Given the description of an element on the screen output the (x, y) to click on. 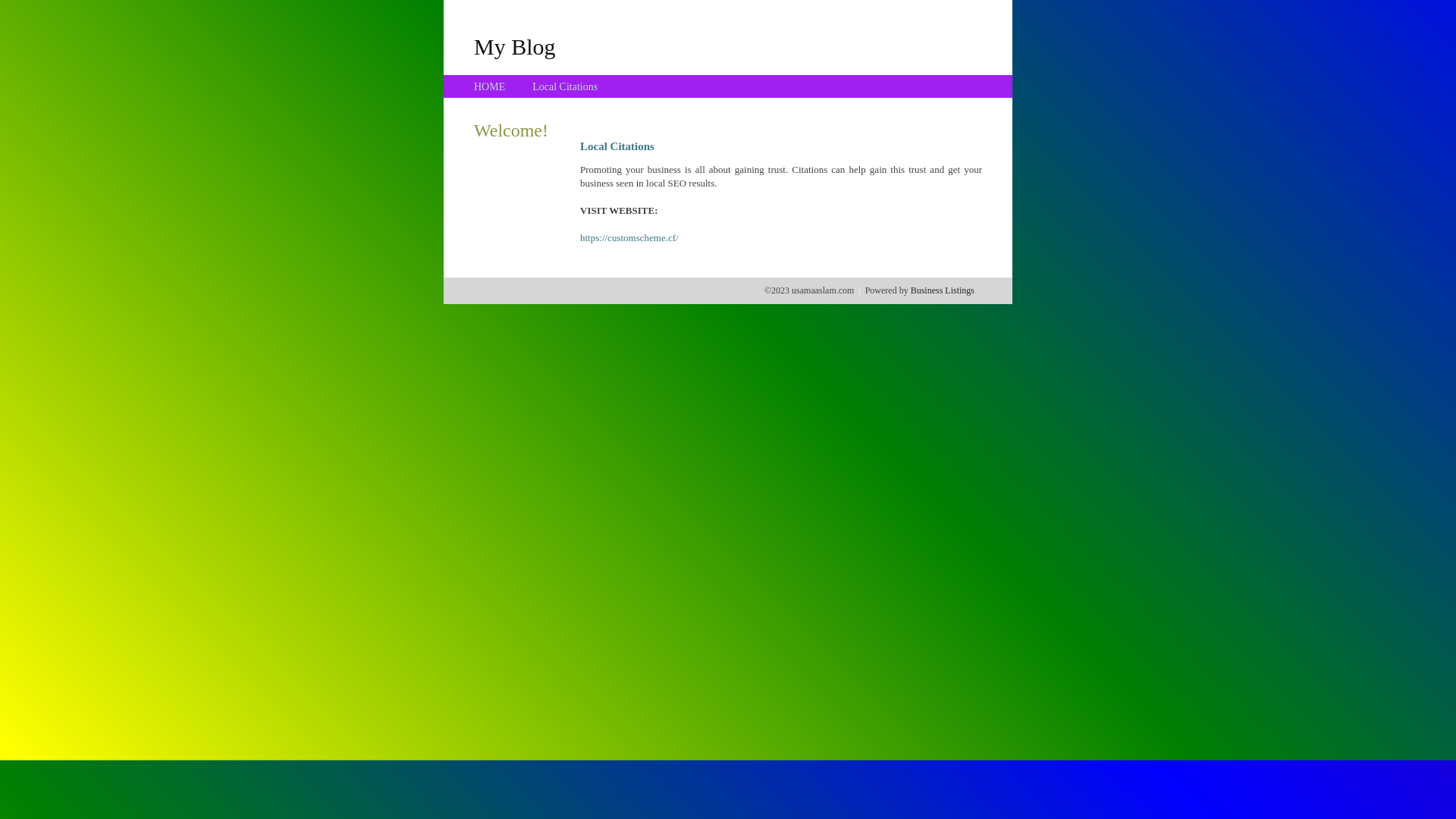
Local Citations Element type: text (564, 86)
HOME Element type: text (489, 86)
https://customscheme.cf/ Element type: text (629, 237)
My Blog Element type: text (514, 46)
Business Listings Element type: text (942, 290)
